Given the description of an element on the screen output the (x, y) to click on. 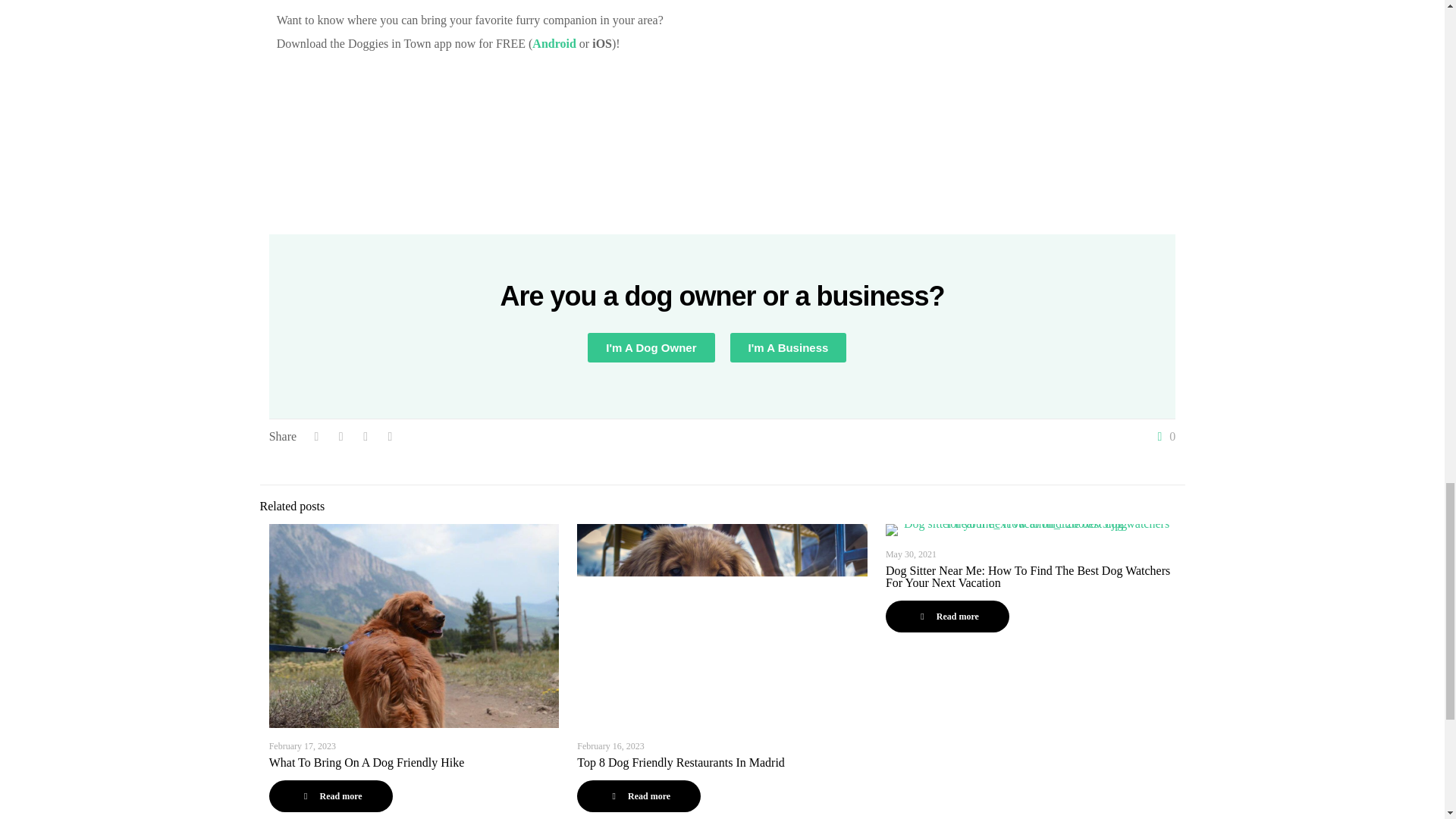
I'm A Business (787, 347)
I'm A Dog Owner (651, 347)
Android (554, 42)
0 (1162, 436)
Read more (331, 796)
What To Bring On A Dog Friendly Hike (366, 762)
